Given the description of an element on the screen output the (x, y) to click on. 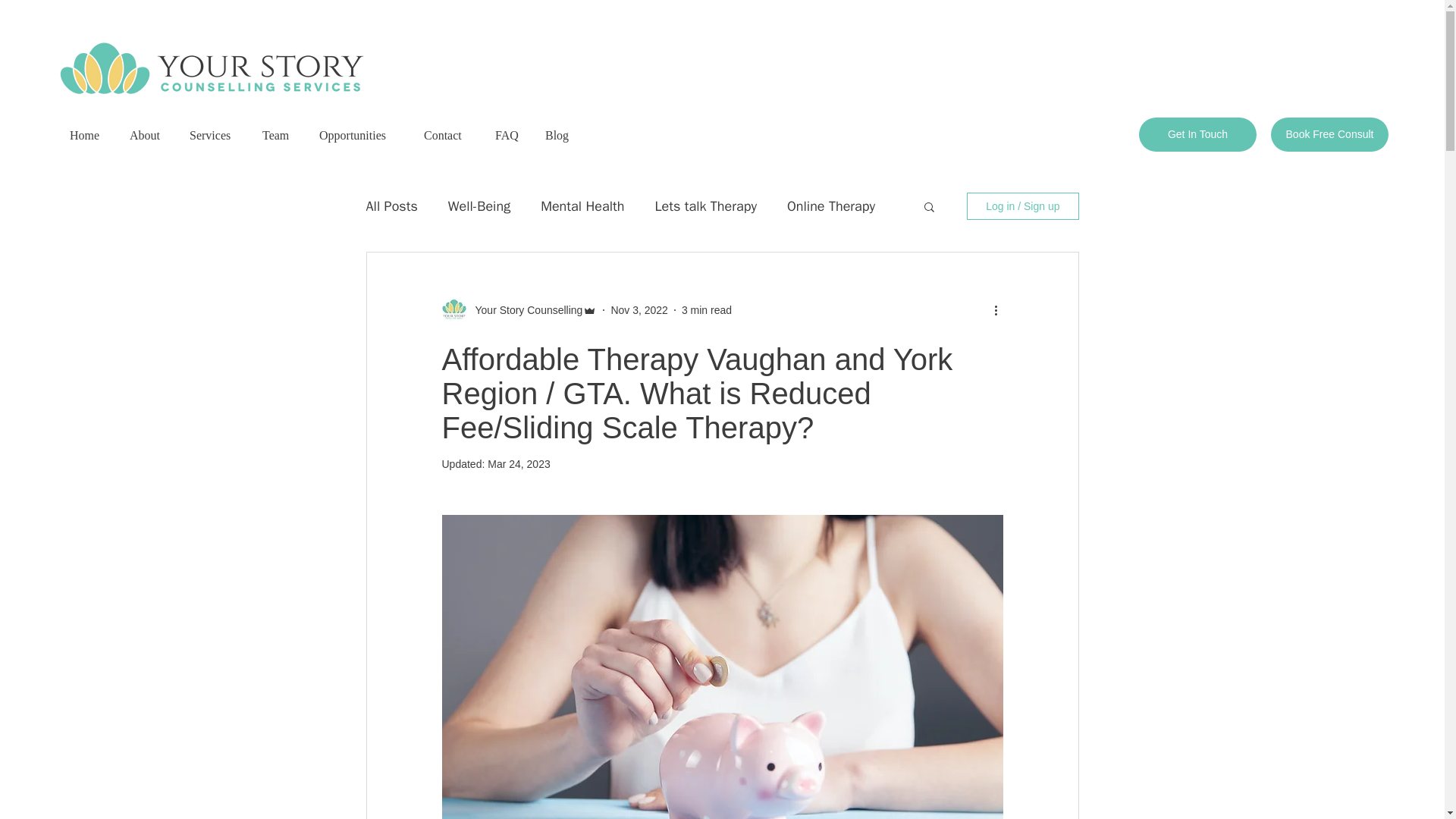
Lets talk Therapy (704, 206)
FAQ (506, 128)
Book Free Consult (1330, 134)
Get In Touch (1197, 134)
Your Story Counselling (523, 309)
Team (276, 128)
Opportunities (357, 128)
Services (212, 128)
Blog (557, 128)
Home (86, 128)
